Given the description of an element on the screen output the (x, y) to click on. 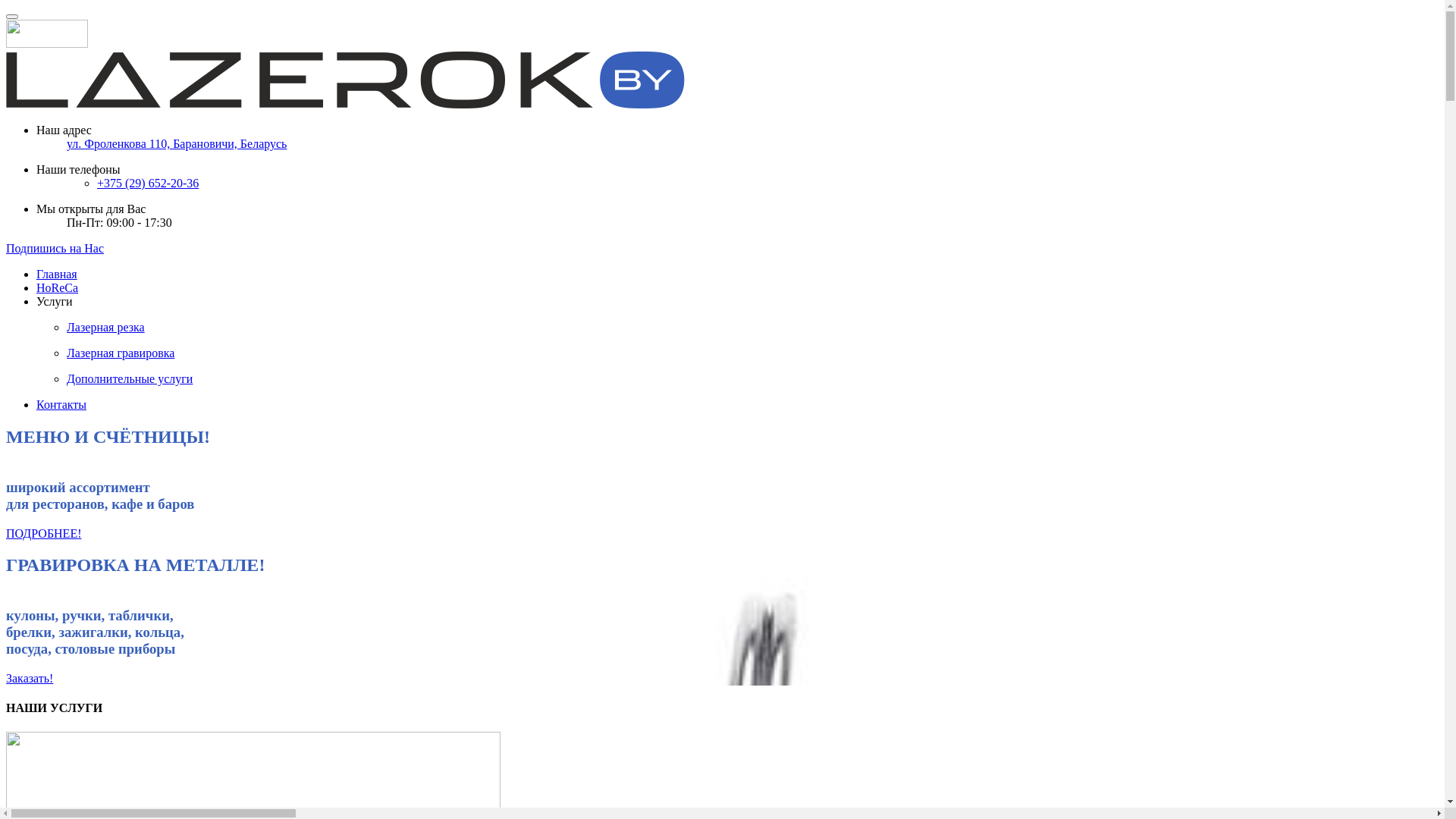
HoReCa Element type: text (57, 287)
+375 (29) 652-20-36 Element type: text (147, 182)
